Given the description of an element on the screen output the (x, y) to click on. 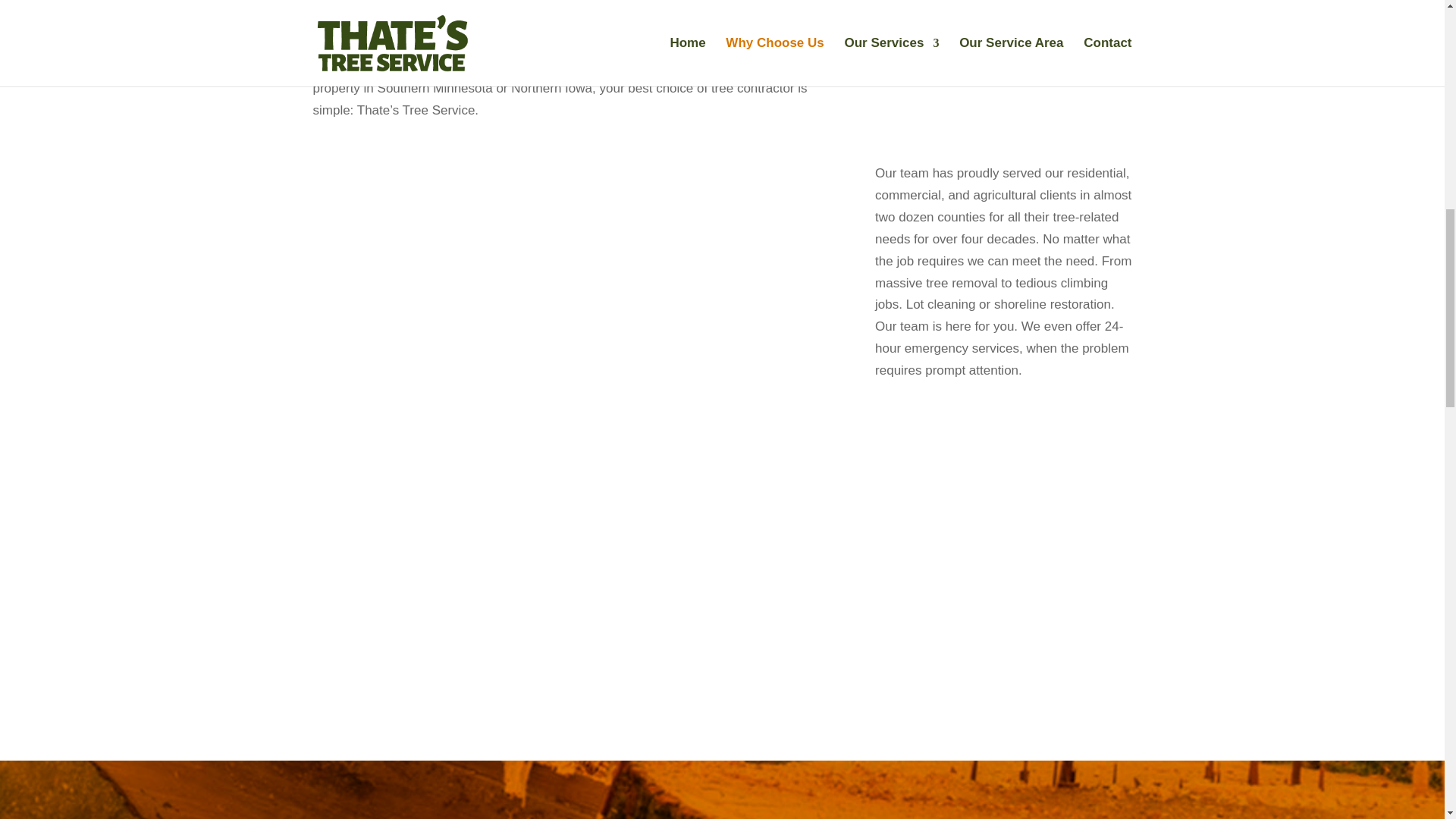
logo-ISA (1010, 23)
